Given the description of an element on the screen output the (x, y) to click on. 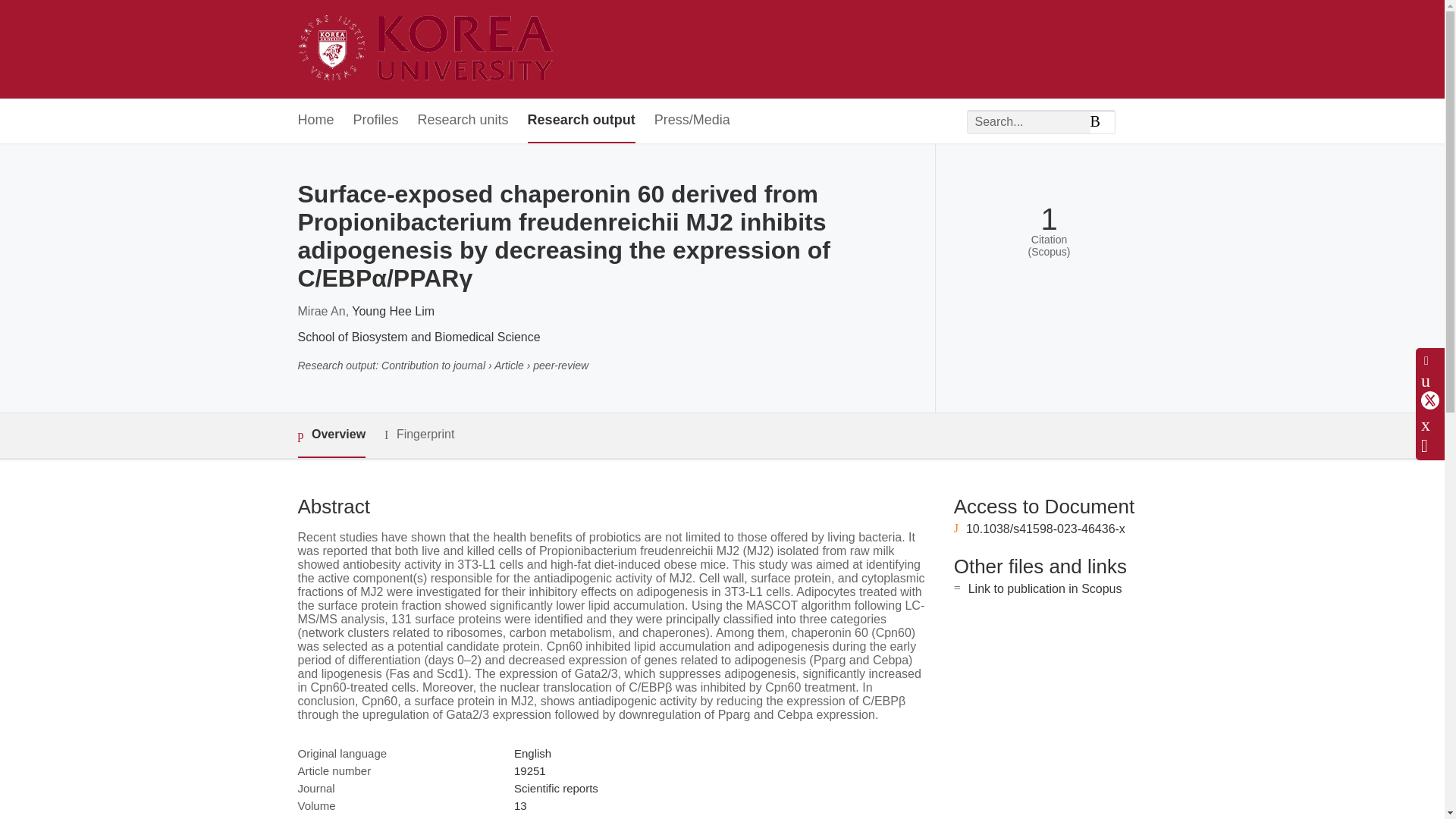
Overview (331, 435)
Link to publication in Scopus (1045, 588)
Scientific reports (555, 788)
Research output (580, 120)
School of Biosystem and Biomedical Science (418, 336)
Korea University Home (429, 49)
Profiles (375, 120)
Fingerprint (419, 434)
Young Hee Lim (392, 310)
